Given the description of an element on the screen output the (x, y) to click on. 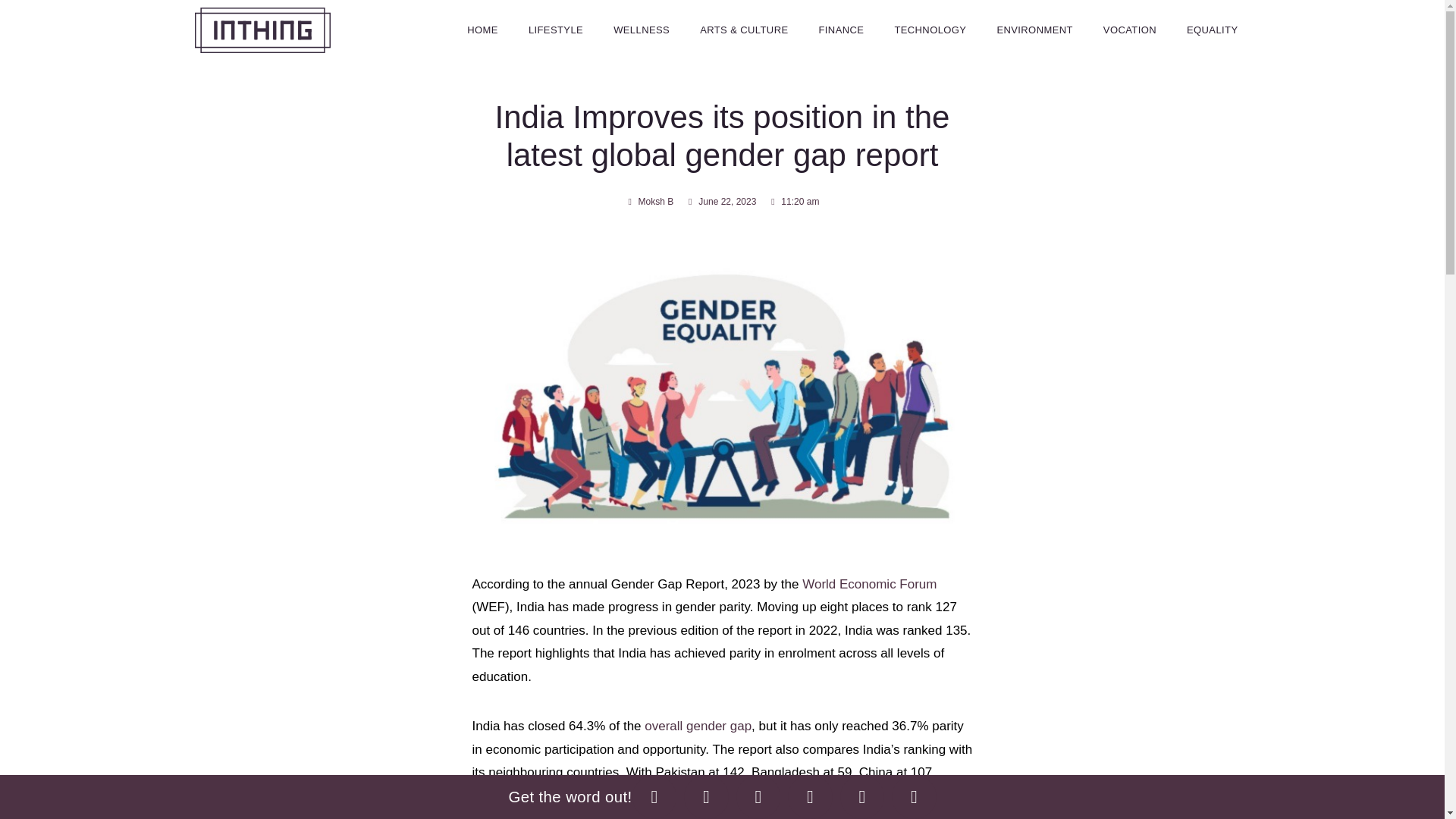
overall gender gap (698, 726)
EQUALITY (1212, 30)
ENVIRONMENT (1034, 30)
LIFESTYLE (555, 30)
June 22, 2023 (720, 201)
Moksh B (650, 201)
HOME (482, 30)
World Economic Forum (869, 584)
FINANCE (841, 30)
VOCATION (1129, 30)
WELLNESS (641, 30)
TECHNOLOGY (930, 30)
